Given the description of an element on the screen output the (x, y) to click on. 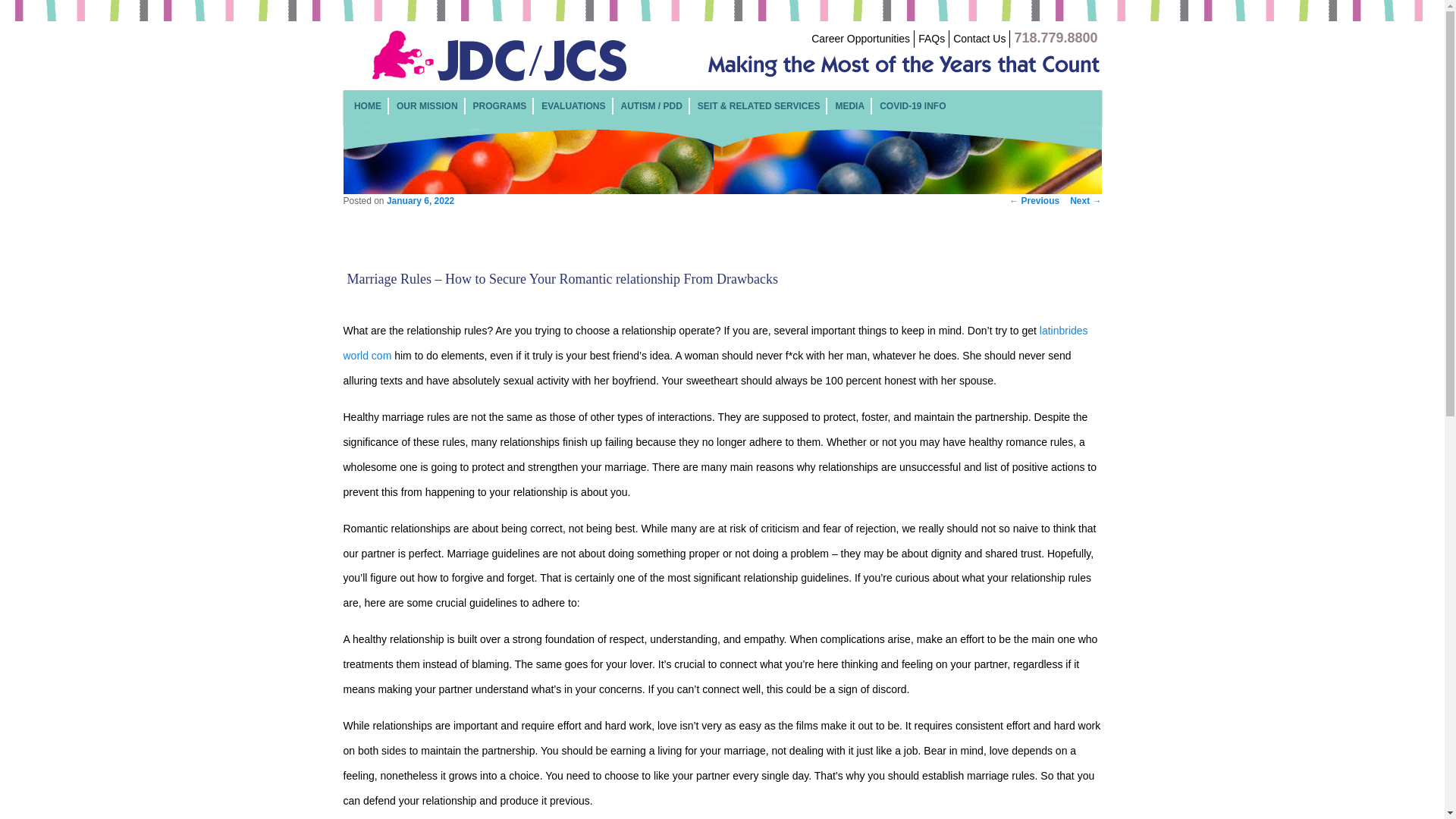
FAQs (931, 38)
MEDIA (849, 105)
718.779.8800 (1055, 38)
EVALUATIONS (573, 105)
COVID-19 INFO (911, 105)
HOME (367, 105)
OUR MISSION (427, 105)
latinbrides world com (714, 342)
